Given the description of an element on the screen output the (x, y) to click on. 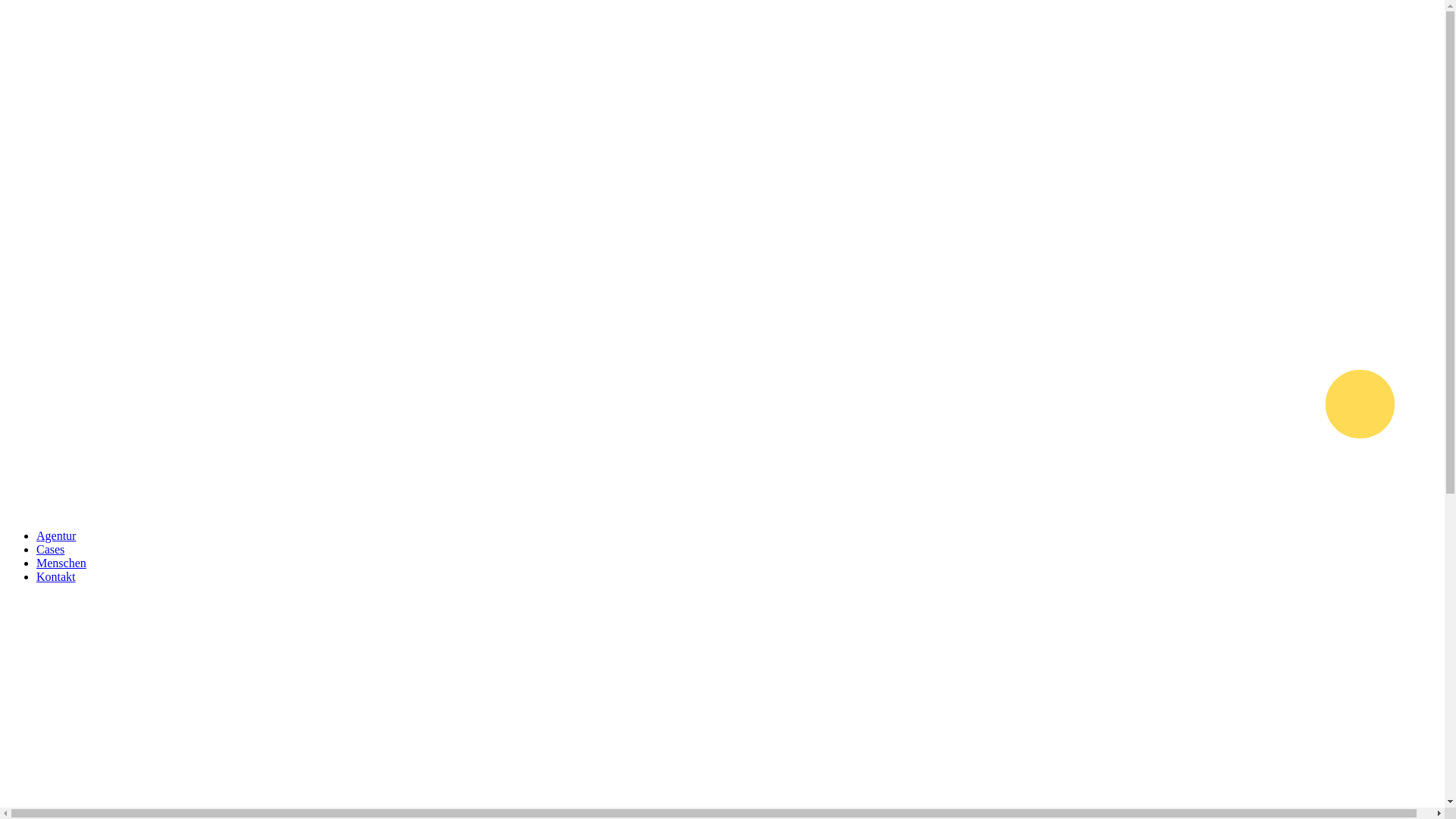
Agentur Element type: text (55, 535)
Cases Element type: text (50, 548)
Menschen Element type: text (61, 562)
Kontakt Element type: text (55, 576)
